Given the description of an element on the screen output the (x, y) to click on. 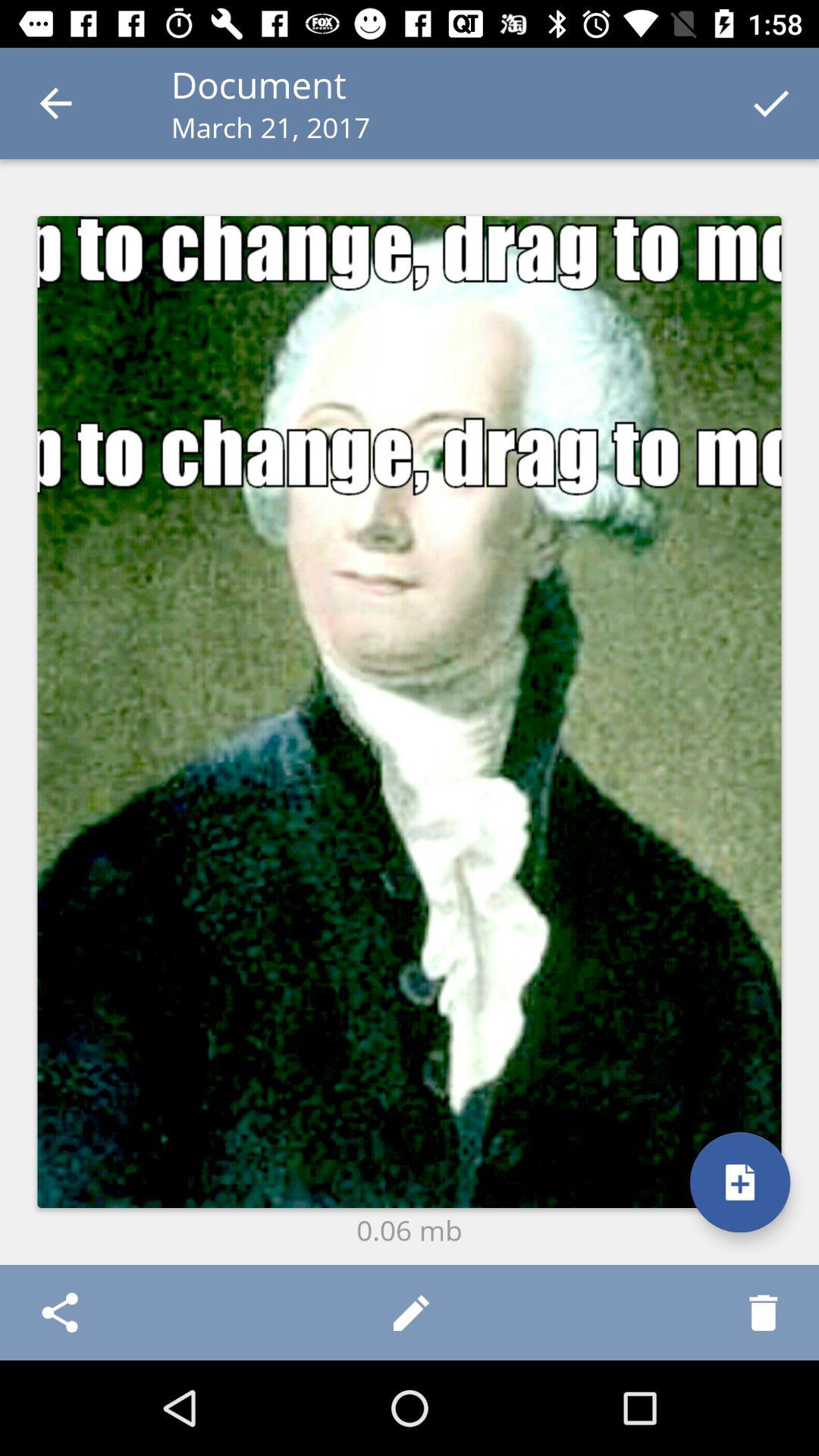
click item next to march 21, 2017 (771, 103)
